Given the description of an element on the screen output the (x, y) to click on. 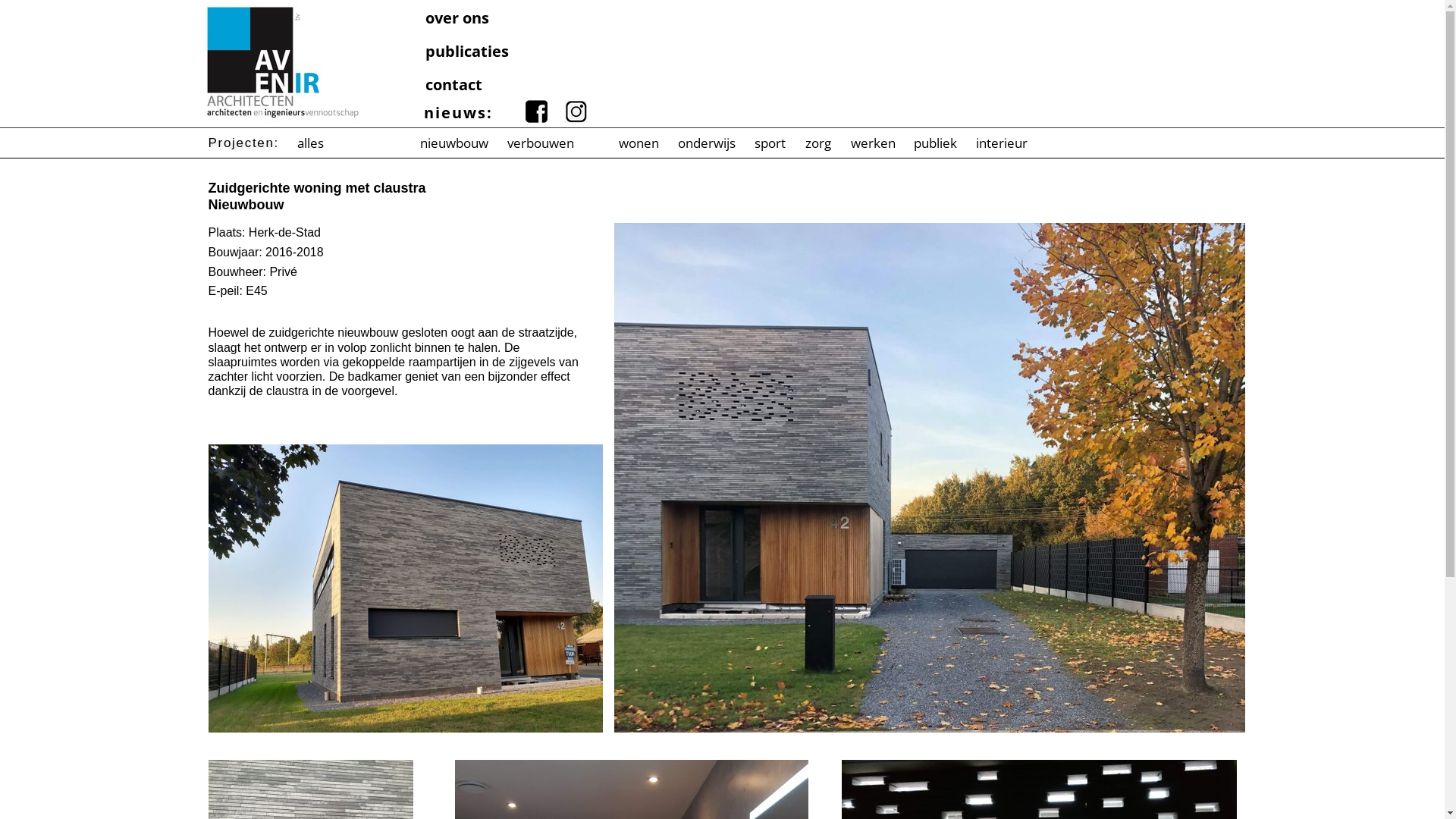
publiek Element type: text (934, 142)
wonen Element type: text (639, 142)
sport Element type: text (770, 142)
nieuwbouw Element type: text (453, 142)
verbouwen Element type: text (539, 142)
alles Element type: text (310, 142)
zorg Element type: text (818, 142)
publicaties Element type: text (466, 52)
werken Element type: text (872, 142)
onderwijs Element type: text (706, 142)
contact Element type: text (466, 85)
interieur Element type: text (1001, 142)
over ons Element type: text (466, 18)
